Given the description of an element on the screen output the (x, y) to click on. 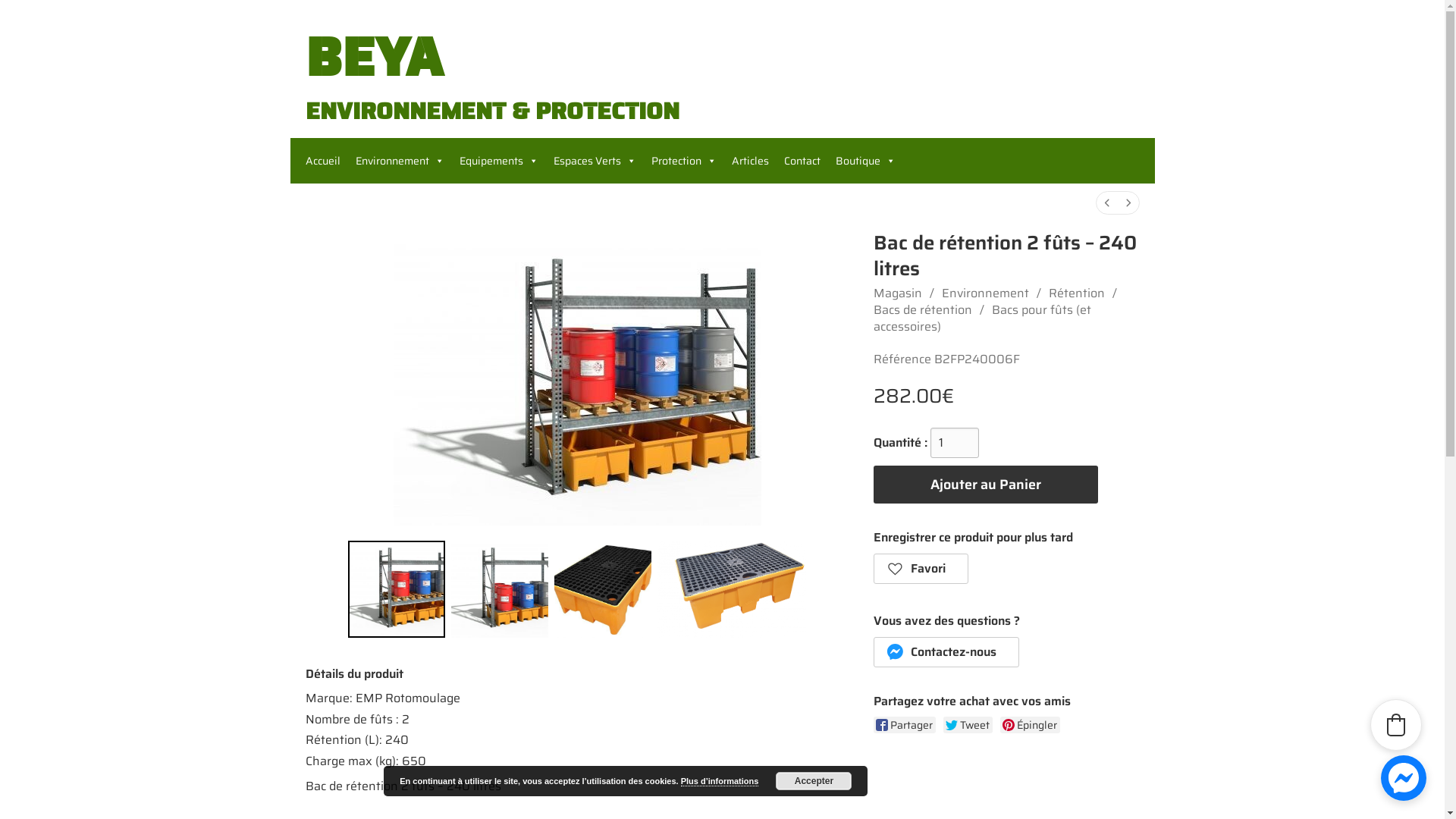
Accepter Element type: text (813, 780)
Contact Element type: text (802, 160)
BEYA Element type: text (373, 56)
Contactez-nous Element type: text (946, 652)
Ajouter au Panier Element type: text (985, 484)
Equipements Element type: text (498, 160)
Espaces Verts Element type: text (594, 160)
Protection Element type: text (683, 160)
Accueil Element type: text (322, 160)
Favori Element type: text (920, 568)
Articles Element type: text (749, 160)
Tweet Element type: text (967, 724)
Magasin Element type: text (897, 292)
Partager Element type: text (904, 724)
Environnement Element type: text (985, 292)
Environnement Element type: text (399, 160)
Boutique Element type: text (865, 160)
